Given the description of an element on the screen output the (x, y) to click on. 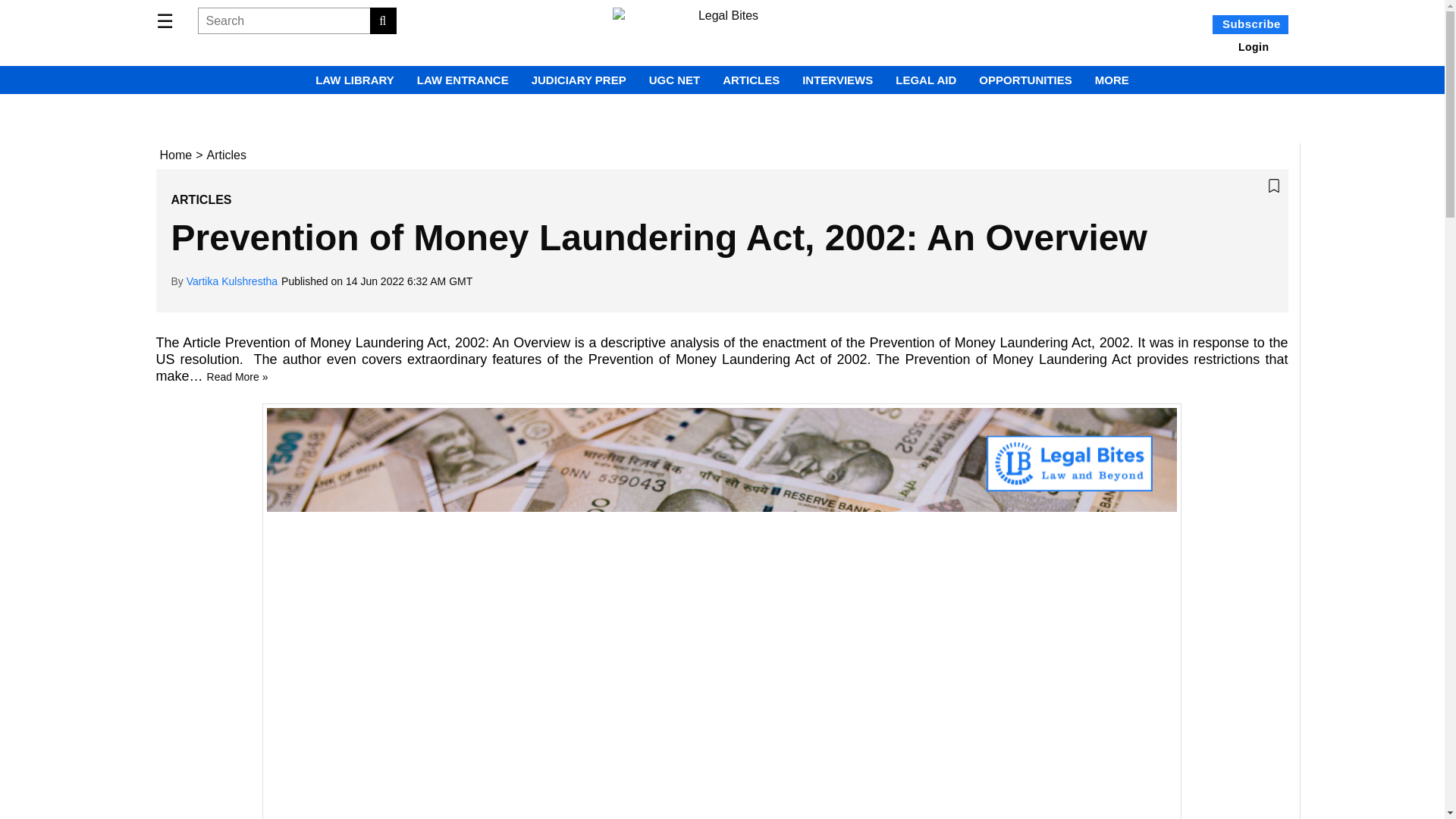
OPPORTUNITIES (1024, 80)
UGC NET (674, 80)
LEGAL AID (925, 80)
Subscribe (1250, 24)
LAW ENTRANCE (462, 80)
Subscribe (1252, 23)
Login (1253, 46)
Legal Bites (722, 32)
Search for: (296, 20)
JUDICIARY PREP (578, 80)
